Given the description of an element on the screen output the (x, y) to click on. 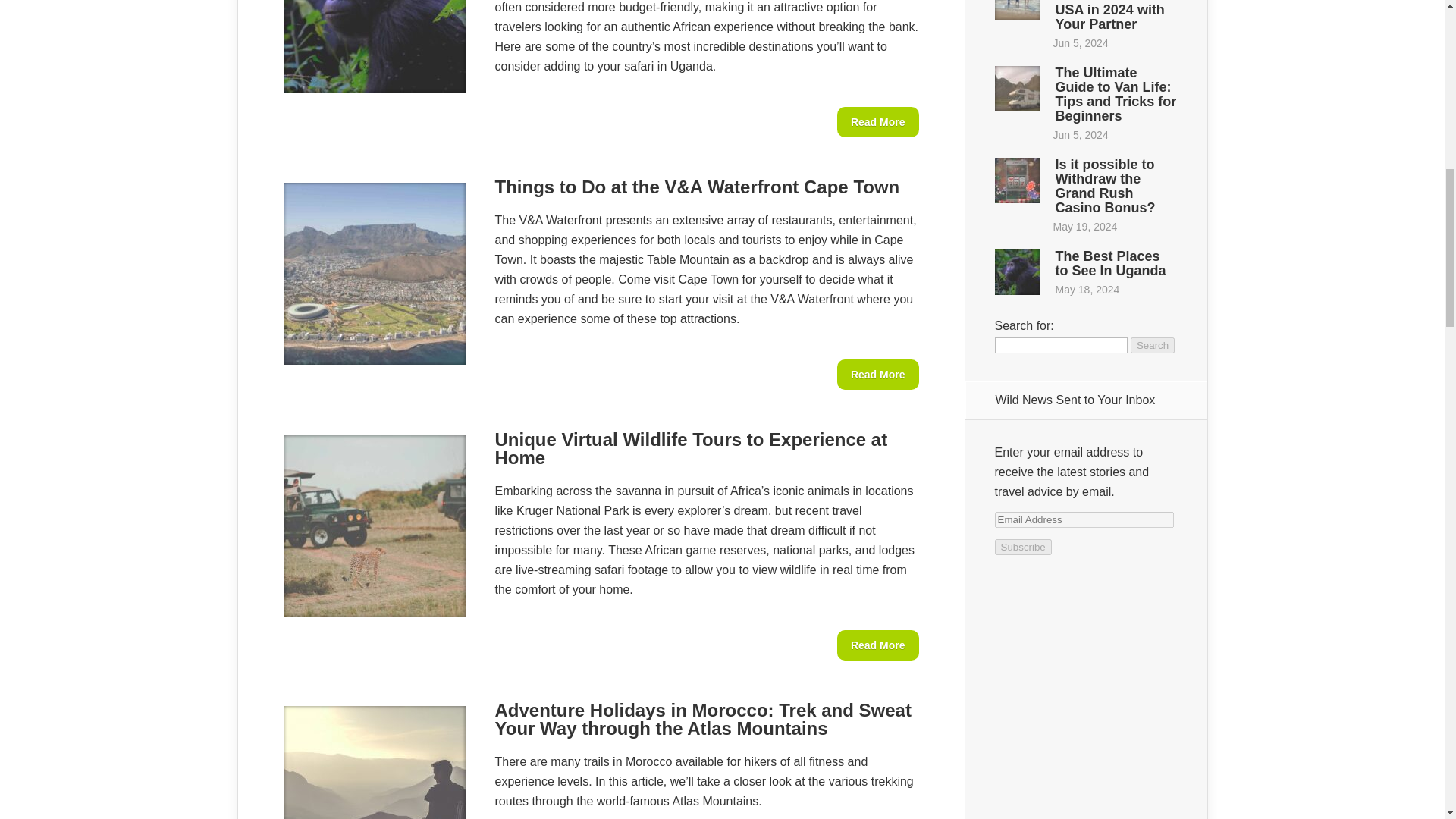
Read More (877, 122)
Subscribe (1022, 546)
Search (1152, 344)
